Given the description of an element on the screen output the (x, y) to click on. 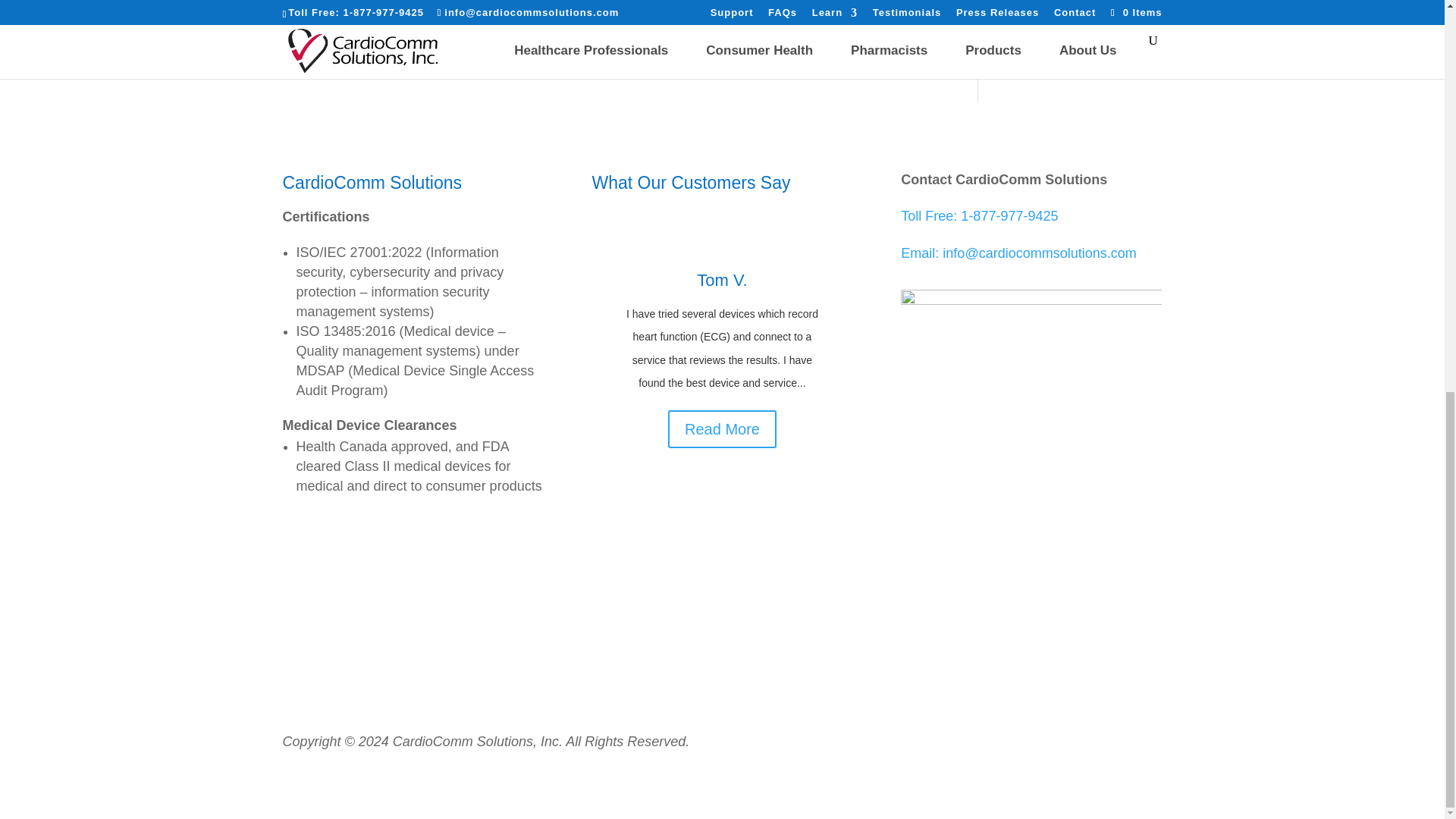
Follow on Youtube (1045, 580)
Read More (722, 428)
Follow on Facebook (985, 580)
Follow on Instagram (1076, 580)
Tom V. (721, 280)
Follow on LinkedIn (1015, 580)
Buy Now (1050, 24)
